Given the description of an element on the screen output the (x, y) to click on. 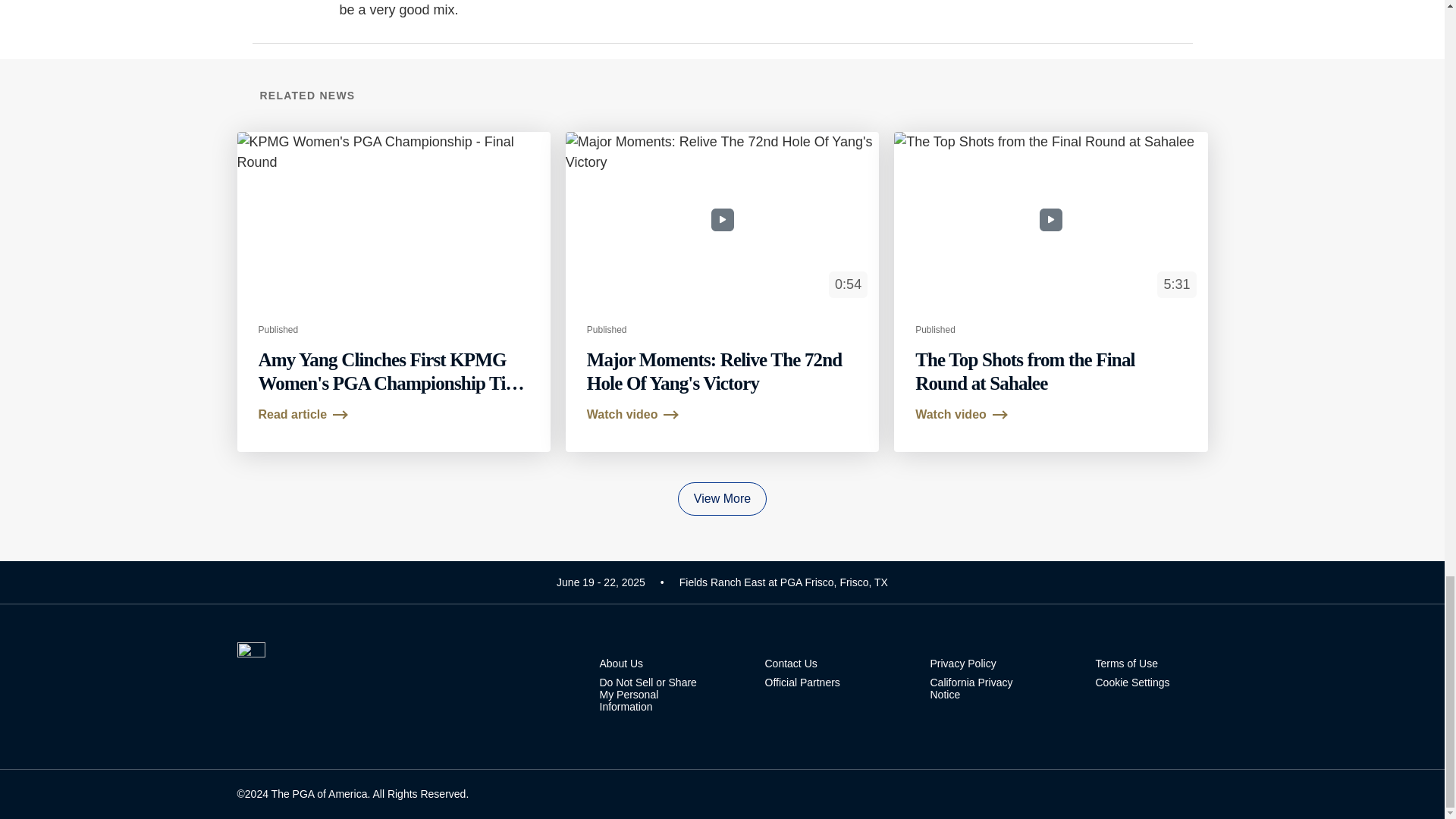
Read article (301, 414)
Major Moments: Relive The 72nd Hole Of Yang's Victory (714, 371)
View More (722, 498)
About Us (654, 663)
Watch video (632, 414)
The Top Shots from the Final Round at Sahalee (1025, 371)
Watch video (960, 414)
